Given the description of an element on the screen output the (x, y) to click on. 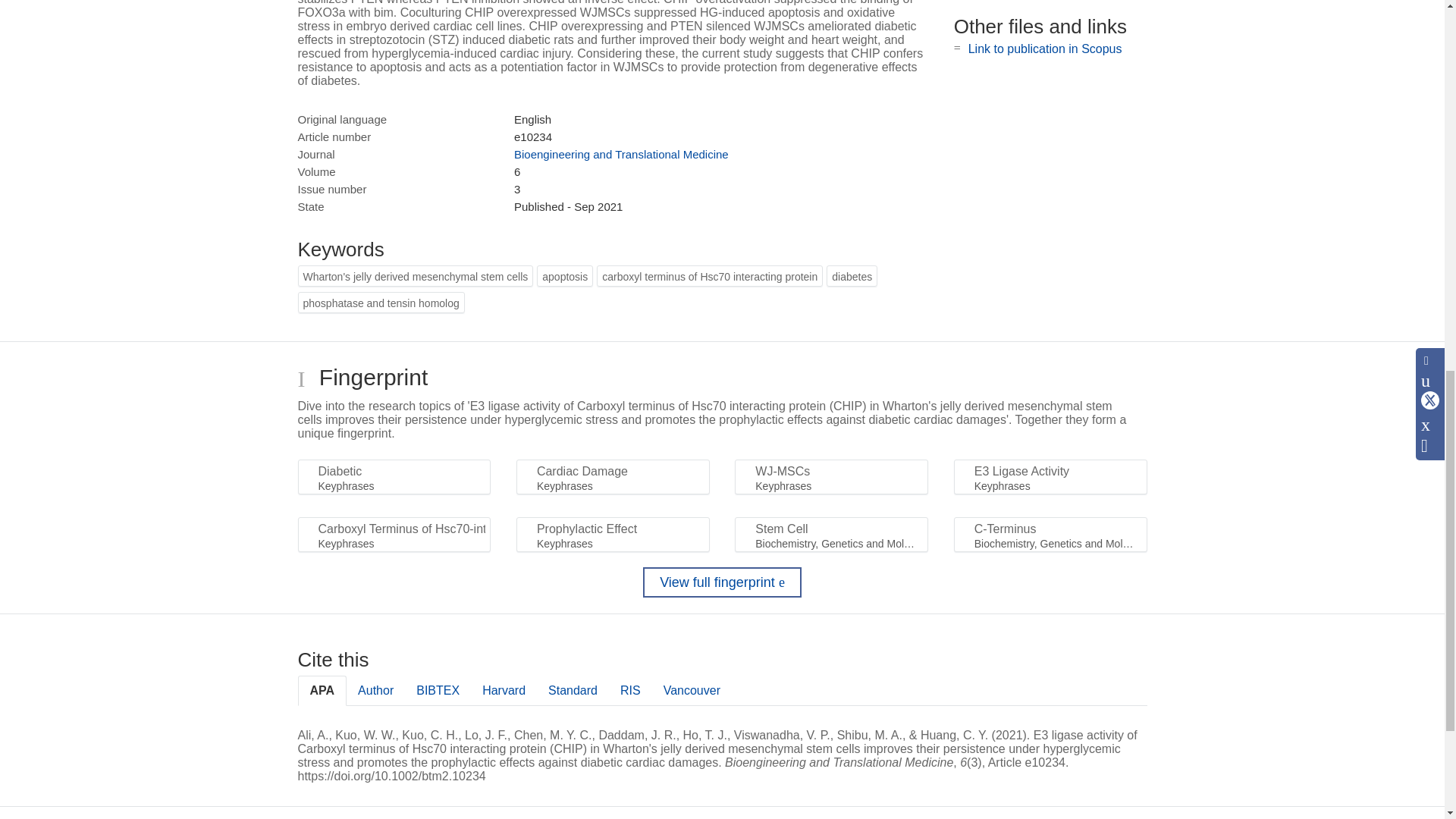
Link to publication in Scopus (1045, 48)
Bioengineering and Translational Medicine (621, 154)
View full fingerprint (722, 582)
